Given the description of an element on the screen output the (x, y) to click on. 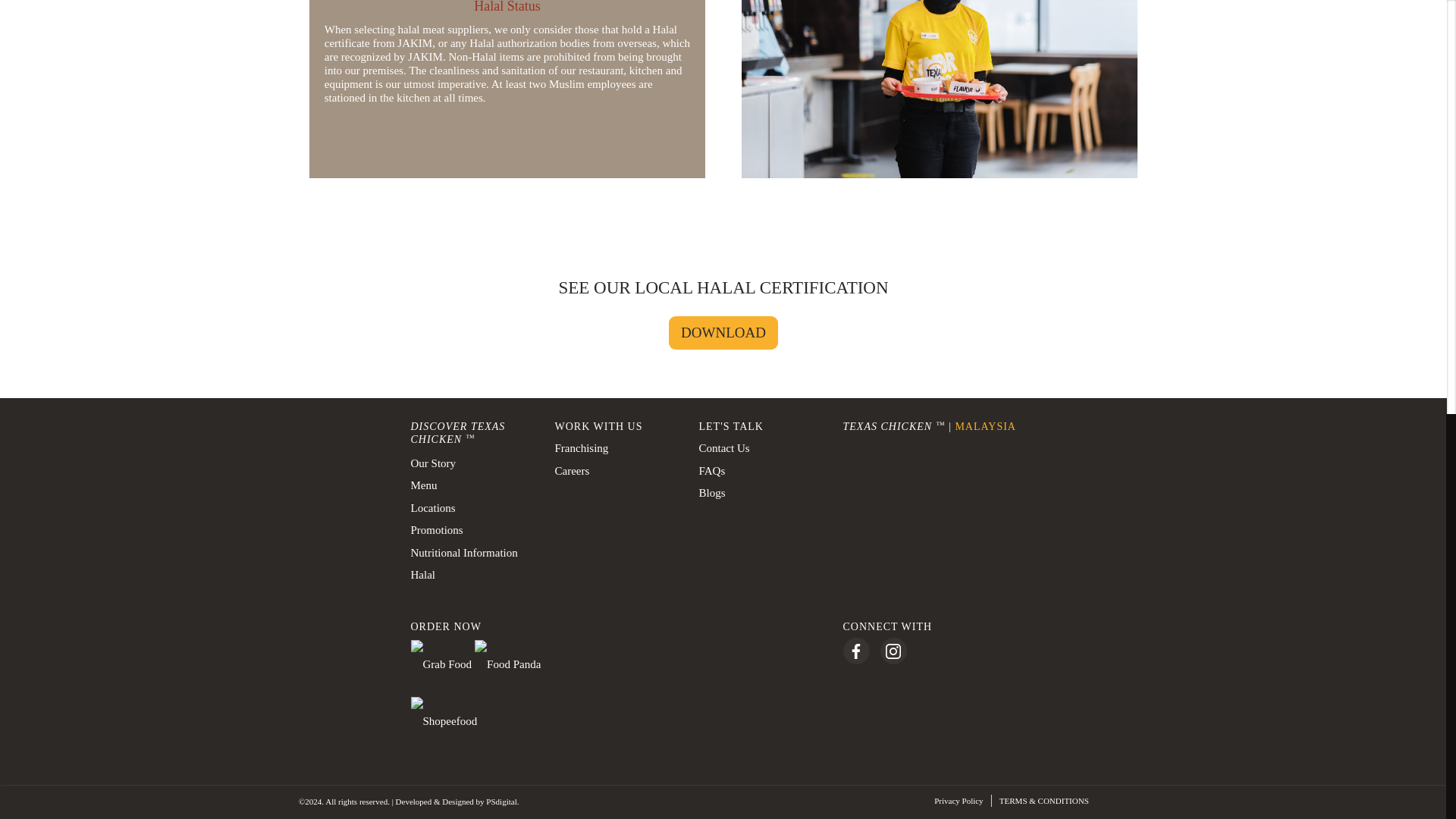
PSdigital (501, 800)
Halal (471, 575)
Our Story (471, 463)
Blogs (759, 493)
NutritionandAllergenInformation (471, 553)
Contact Us (759, 448)
DOWNLOAD (722, 333)
Nutritional Information (471, 553)
Menu (471, 486)
Careers (615, 471)
